Given the description of an element on the screen output the (x, y) to click on. 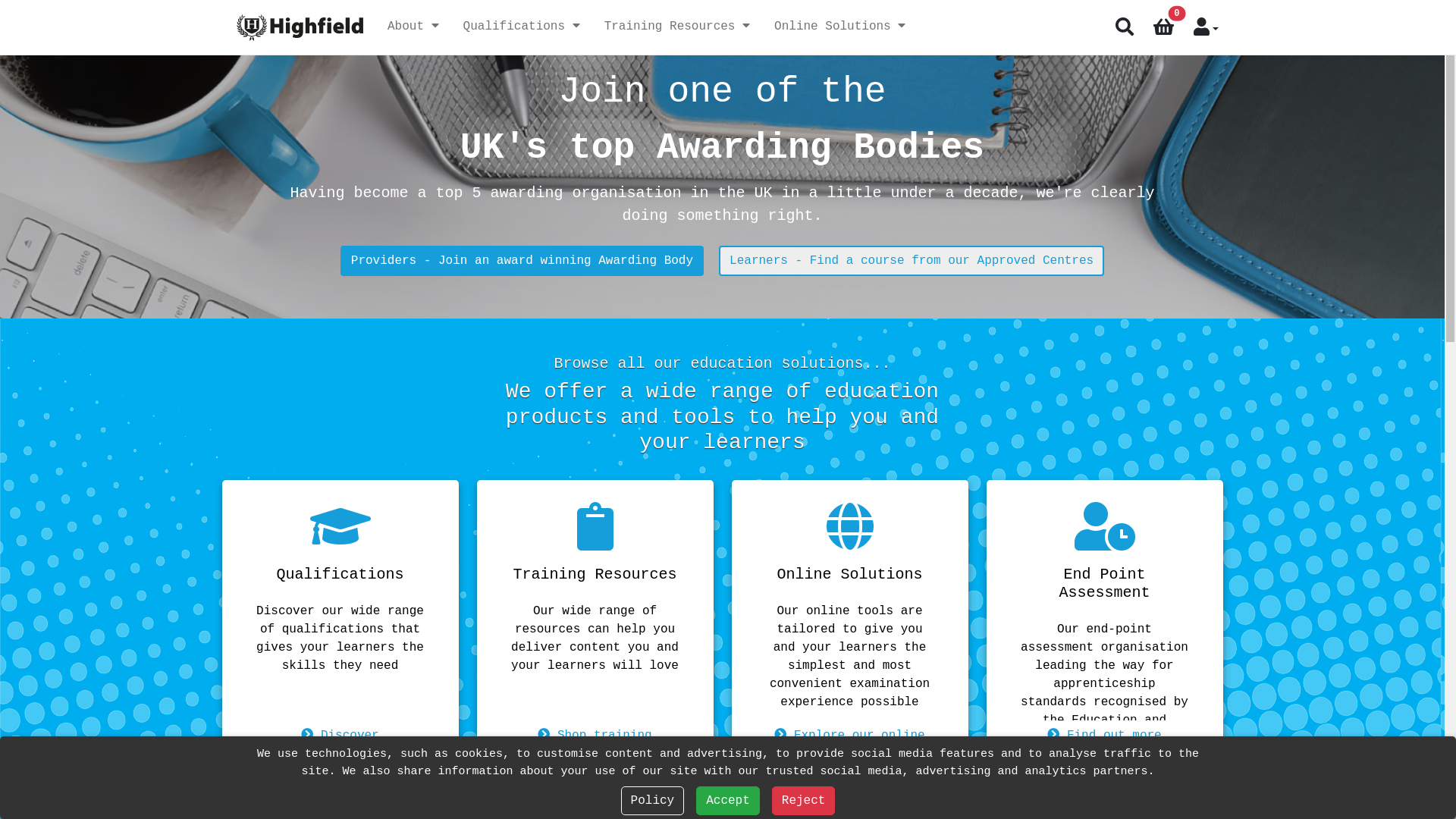
Shop training resources Element type: text (594, 744)
Providers - Join an award winning Awarding Body Element type: text (521, 260)
0 Element type: text (1163, 26)
Online Solutions Element type: text (839, 27)
Reject Element type: text (803, 800)
Policy Element type: text (652, 800)
Training Resources Element type: text (677, 27)
About Element type: text (413, 27)
Learners - Find a course from our Approved Centres Element type: text (911, 260)
Opens a widget where you can find more information Element type: hover (1387, 792)
Qualifications Element type: text (521, 27)
Find out more Element type: text (1104, 735)
Discover qualifications Element type: text (339, 744)
Explore our online tools Element type: text (849, 744)
